Given the description of an element on the screen output the (x, y) to click on. 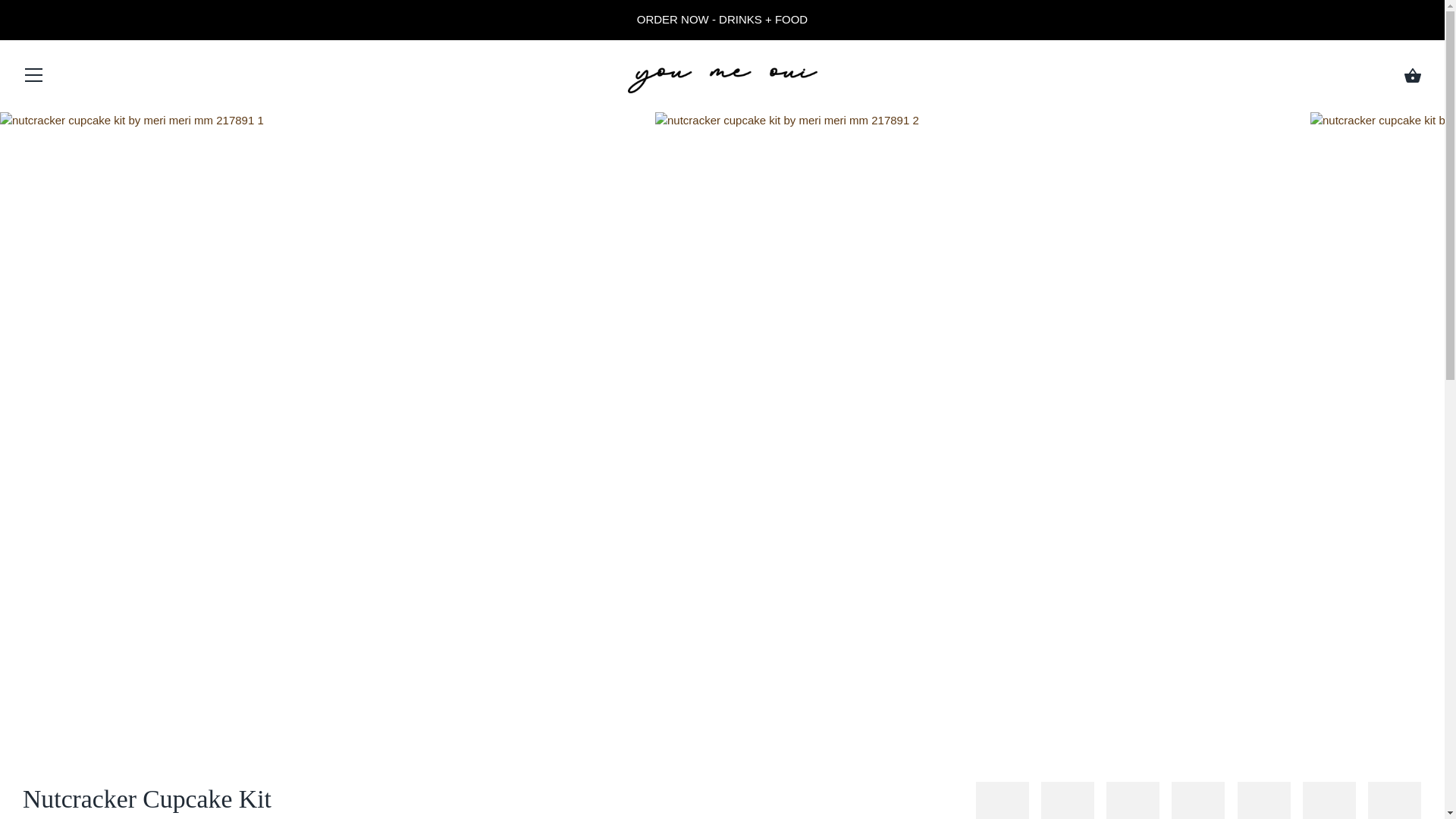
Cart (1412, 75)
Cart (1412, 75)
